Given the description of an element on the screen output the (x, y) to click on. 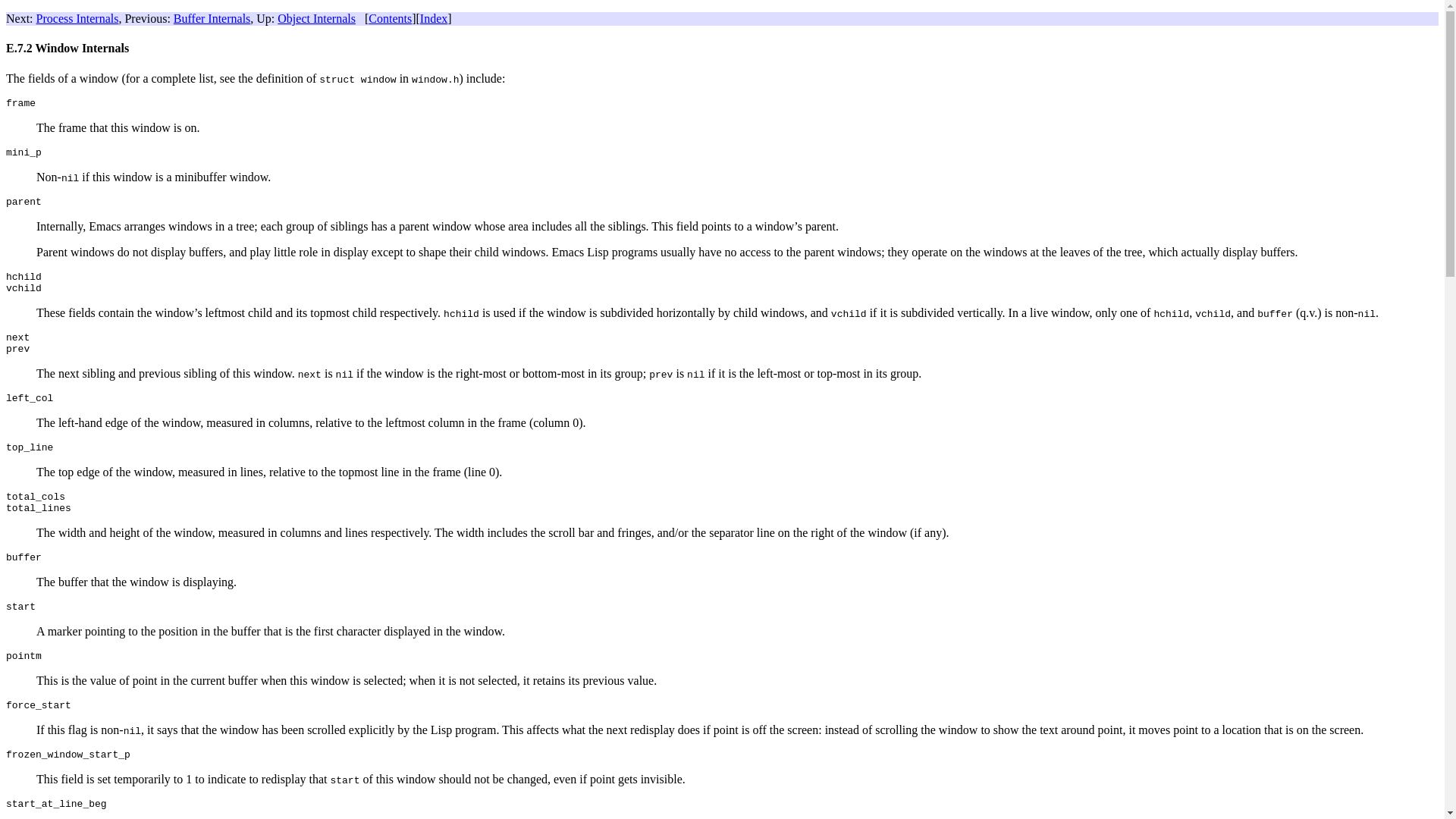
Object Internals (316, 18)
Process Internals (77, 18)
Index (433, 18)
Buffer Internals (211, 18)
Contents (390, 18)
Index (433, 18)
Table of contents (390, 18)
